Given the description of an element on the screen output the (x, y) to click on. 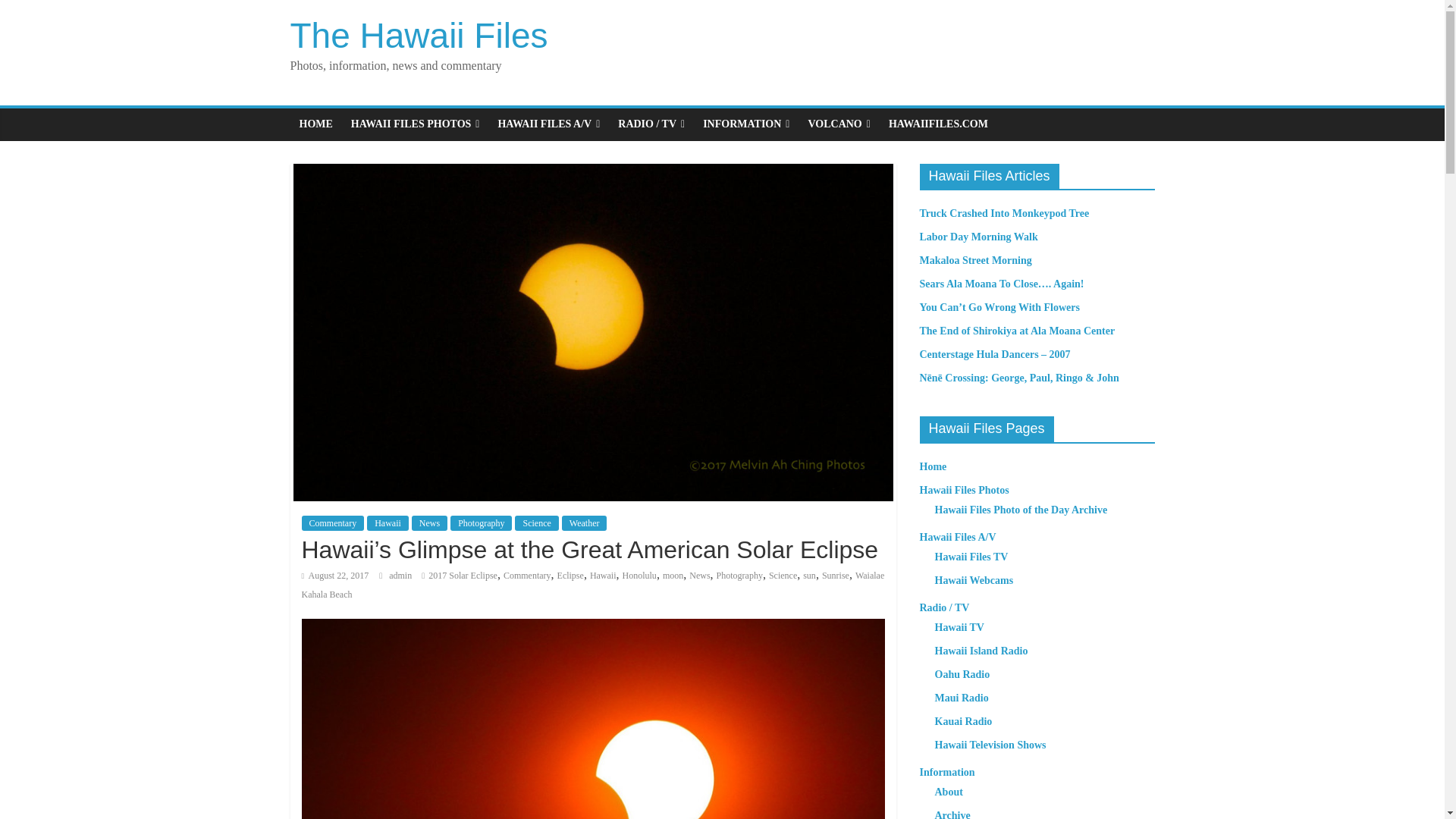
2017 Solar Eclipse (462, 575)
moon (672, 575)
Photography (739, 575)
HOME (314, 124)
INFORMATION (745, 124)
Science (782, 575)
August 22, 2017 (335, 575)
admin (400, 575)
Weather (584, 522)
HAWAIIFILES.COM (938, 124)
News (699, 575)
Honolulu (639, 575)
Sunrise (835, 575)
Hawaii (387, 522)
VOLCANO (838, 124)
